Given the description of an element on the screen output the (x, y) to click on. 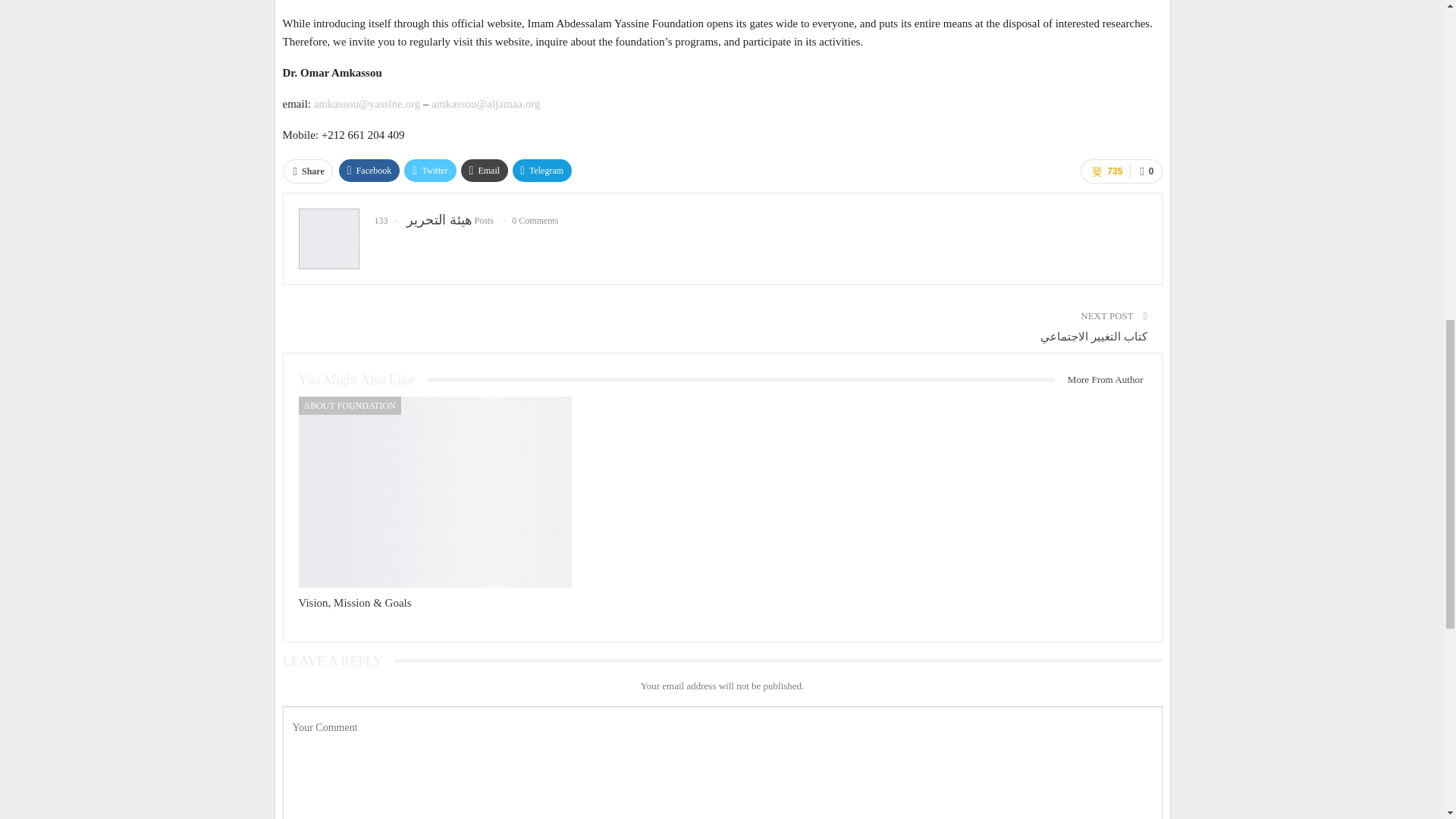
Twitter (429, 169)
Email (484, 169)
Telegram (542, 169)
Facebook (369, 169)
0 (1145, 170)
